Given the description of an element on the screen output the (x, y) to click on. 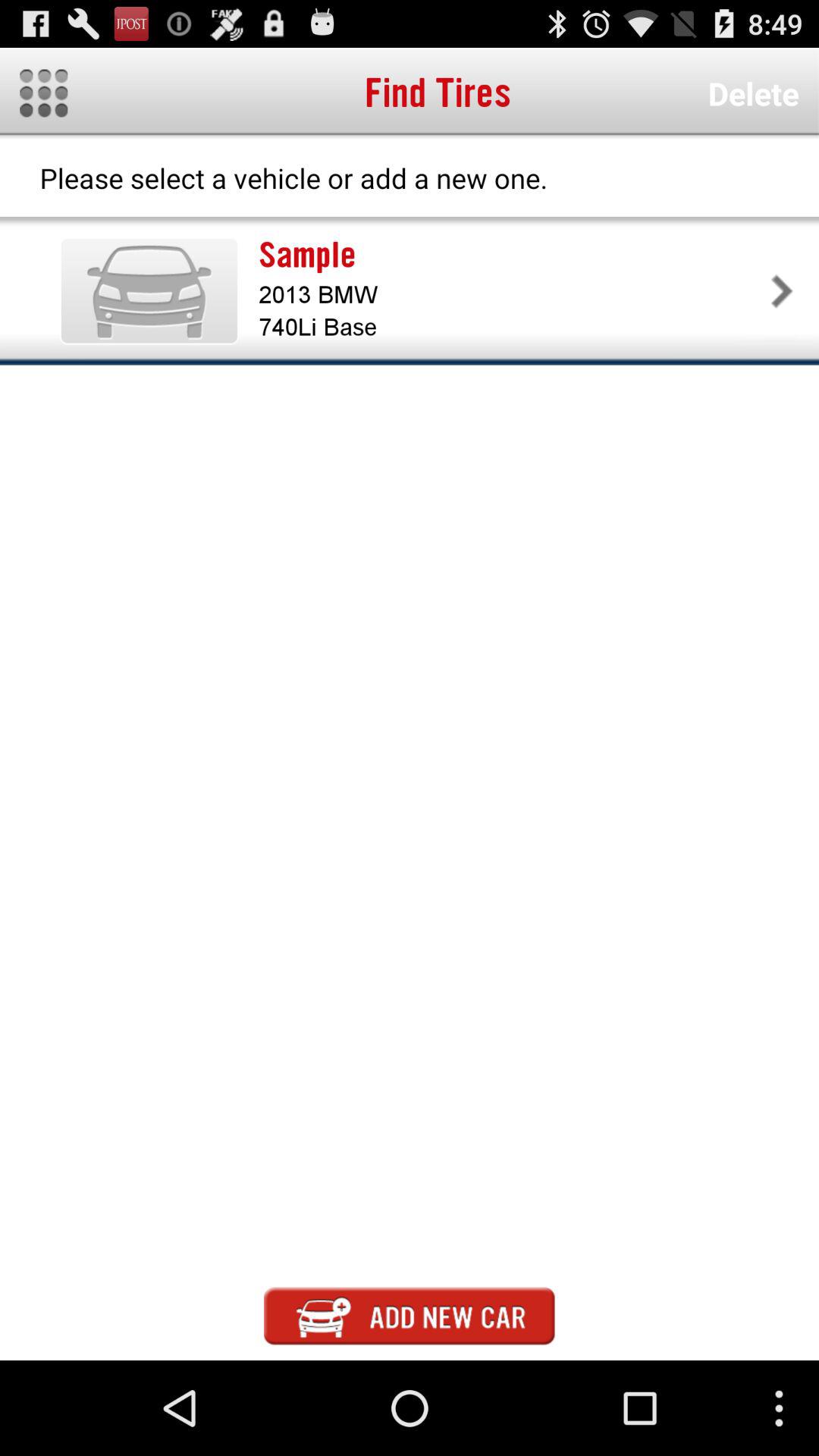
select icon below the please select a item (148, 290)
